Given the description of an element on the screen output the (x, y) to click on. 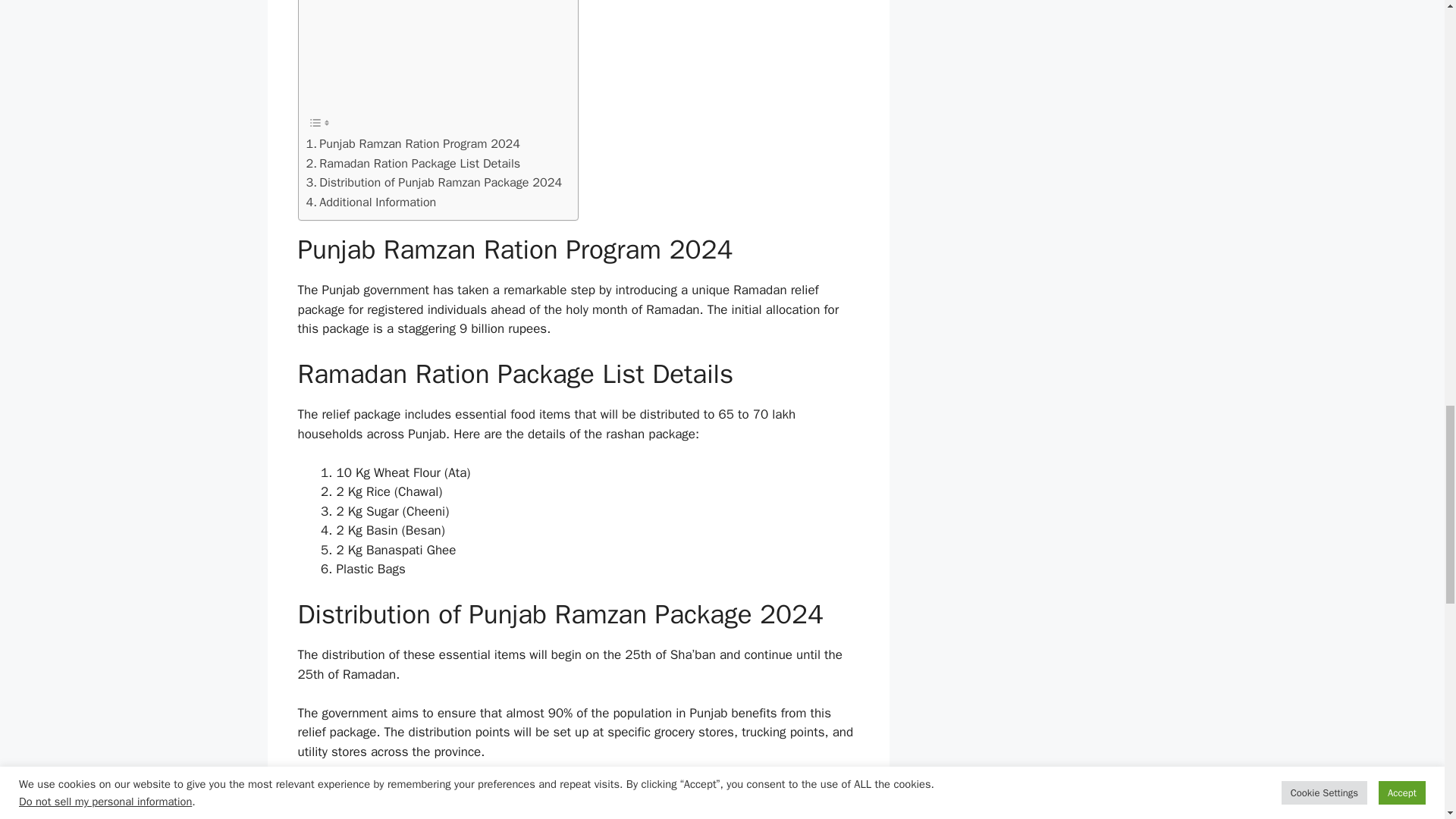
Ramadan Ration Package List Details (413, 163)
Advertisement (433, 52)
Punjab Ramzan Ration Program 2024 (412, 143)
Distribution of Punjab Ramzan Package 2024 (433, 182)
Additional Information (370, 202)
Ramadan Ration Package List Details (413, 163)
Additional Information (370, 202)
Distribution of Punjab Ramzan Package 2024 (433, 182)
Punjab Ramzan Ration Program 2024 (412, 143)
